Given the description of an element on the screen output the (x, y) to click on. 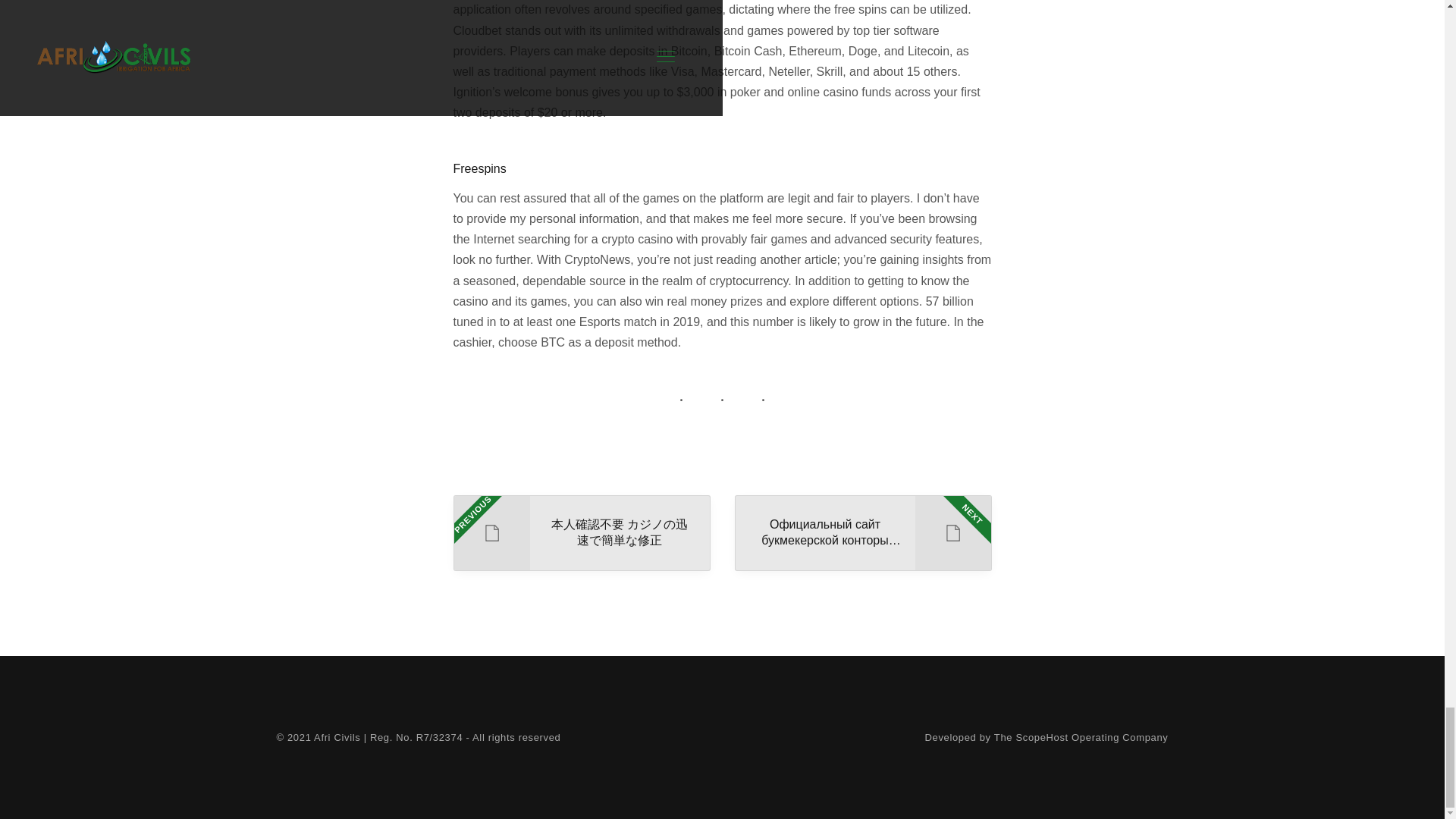
Developed by The ScopeHost Operating Company (1045, 737)
